Given the description of an element on the screen output the (x, y) to click on. 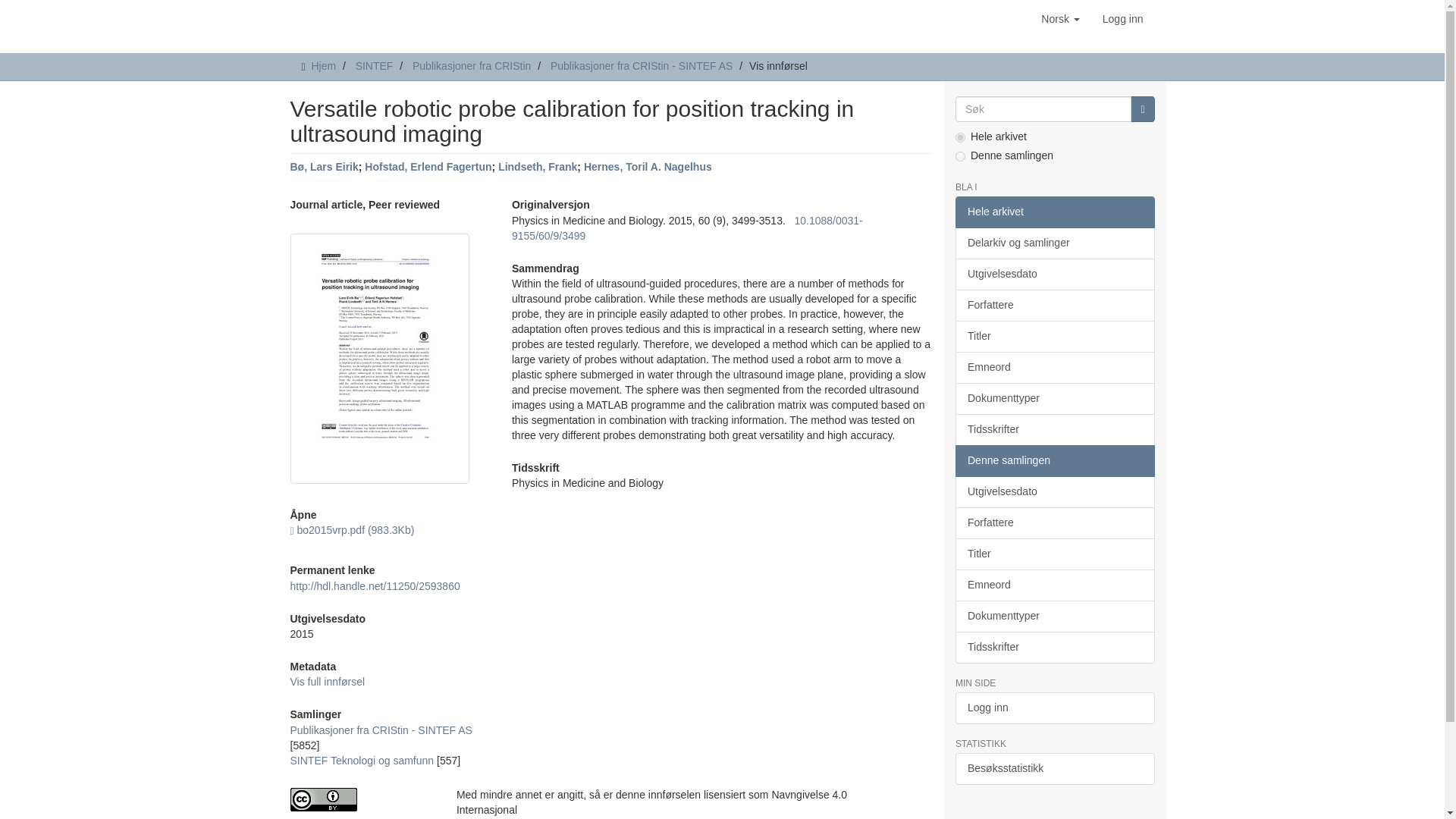
SINTEF Teknologi og samfunn (361, 760)
Norsk  (1059, 18)
SINTEF (374, 65)
Publikasjoner fra CRIStin - SINTEF AS (380, 729)
Publikasjoner fra CRIStin - SINTEF AS (641, 65)
Publikasjoner fra CRIStin (471, 65)
Navngivelse 4.0 Internasjonal (360, 799)
Hofstad, Erlend Fagertun (428, 166)
Lindseth, Frank (536, 166)
Logg inn (1122, 18)
